Given the description of an element on the screen output the (x, y) to click on. 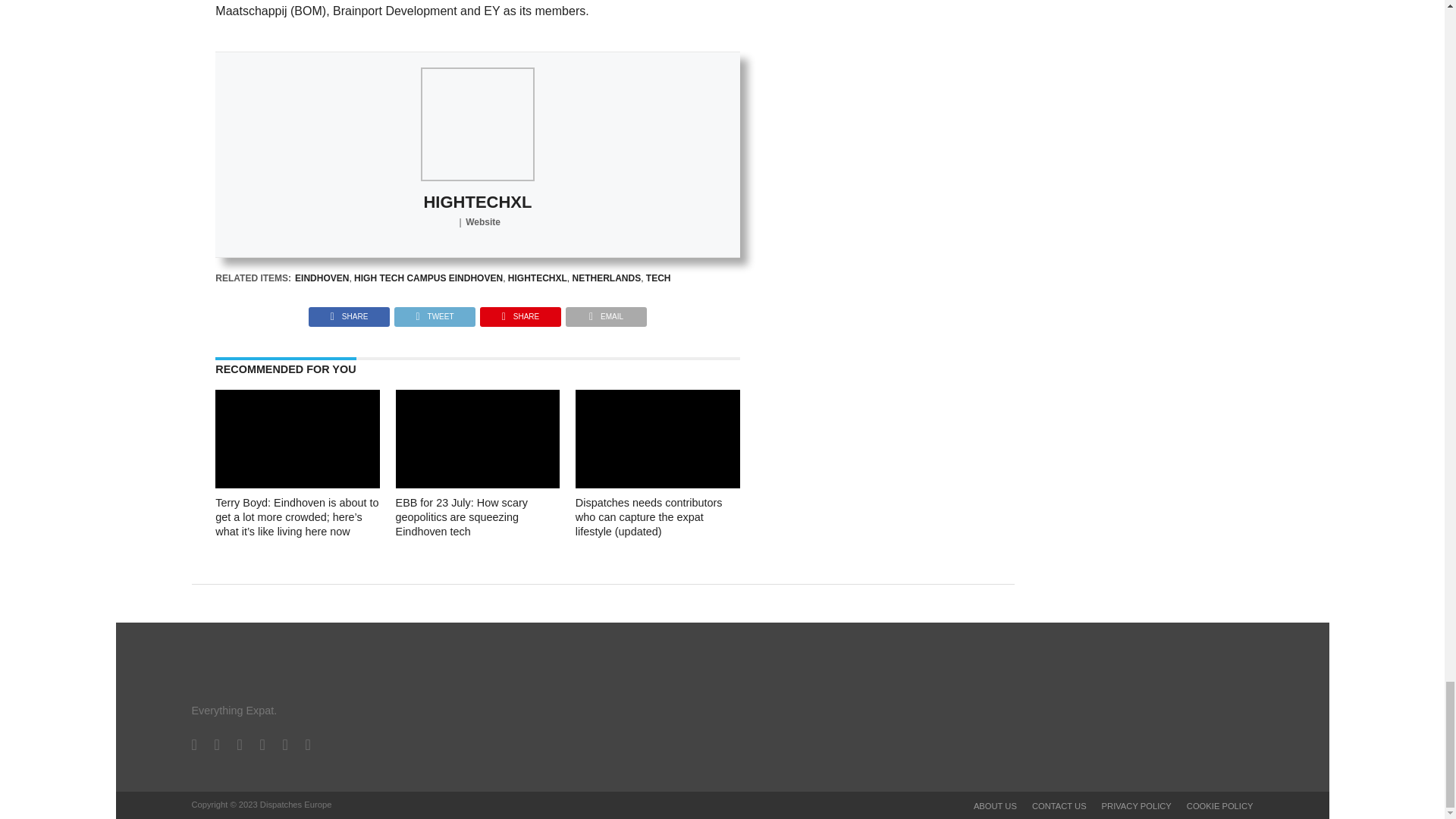
Tweet This Post (434, 312)
Pin This Post (520, 312)
Share on Facebook (349, 312)
